Given the description of an element on the screen output the (x, y) to click on. 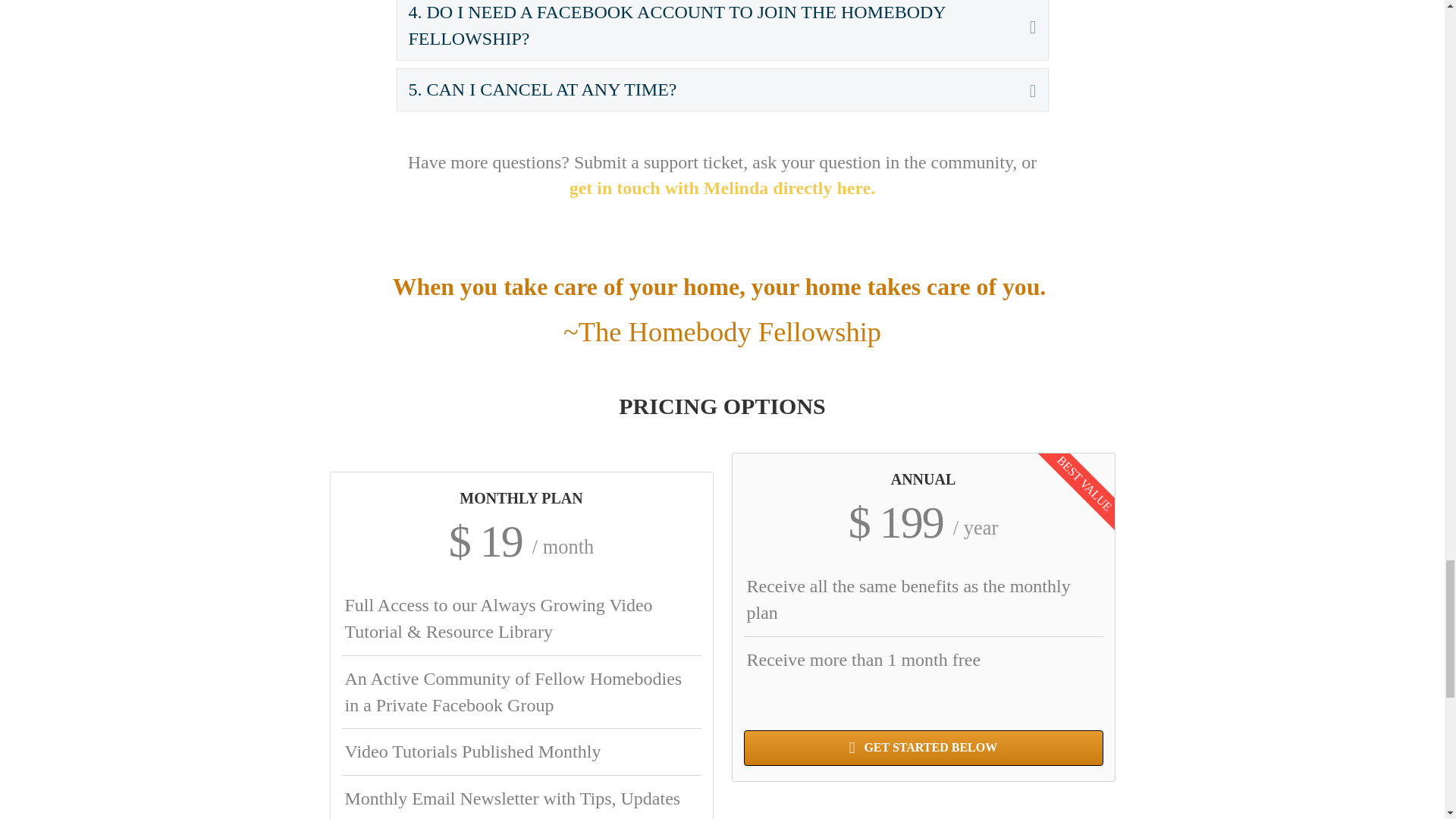
5. CAN I CANCEL AT ANY TIME? (706, 89)
GET STARTED BELOW (922, 747)
get in touch with Melinda directly here. (722, 188)
Expand (1021, 89)
